Given the description of an element on the screen output the (x, y) to click on. 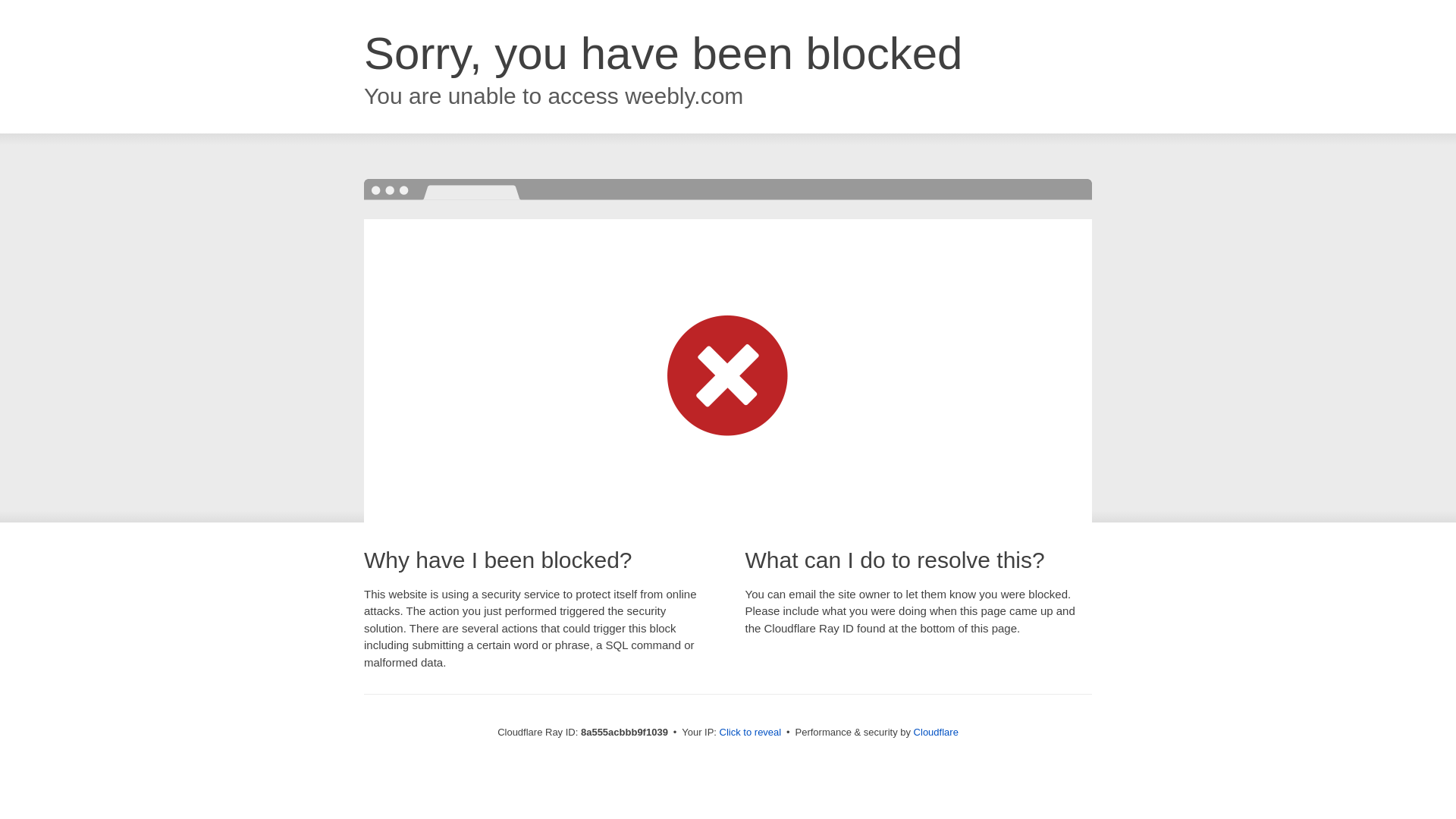
Click to reveal (750, 732)
Cloudflare (936, 731)
